Given the description of an element on the screen output the (x, y) to click on. 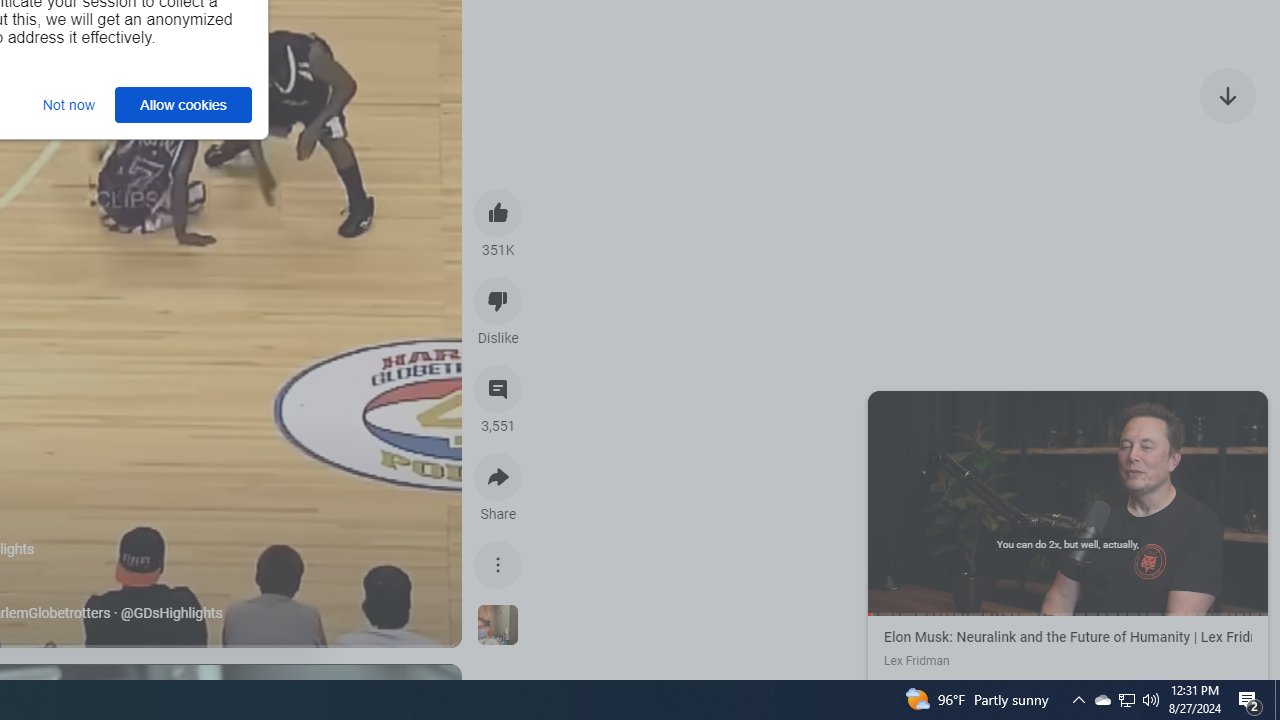
Not now (68, 104)
